Given the description of an element on the screen output the (x, y) to click on. 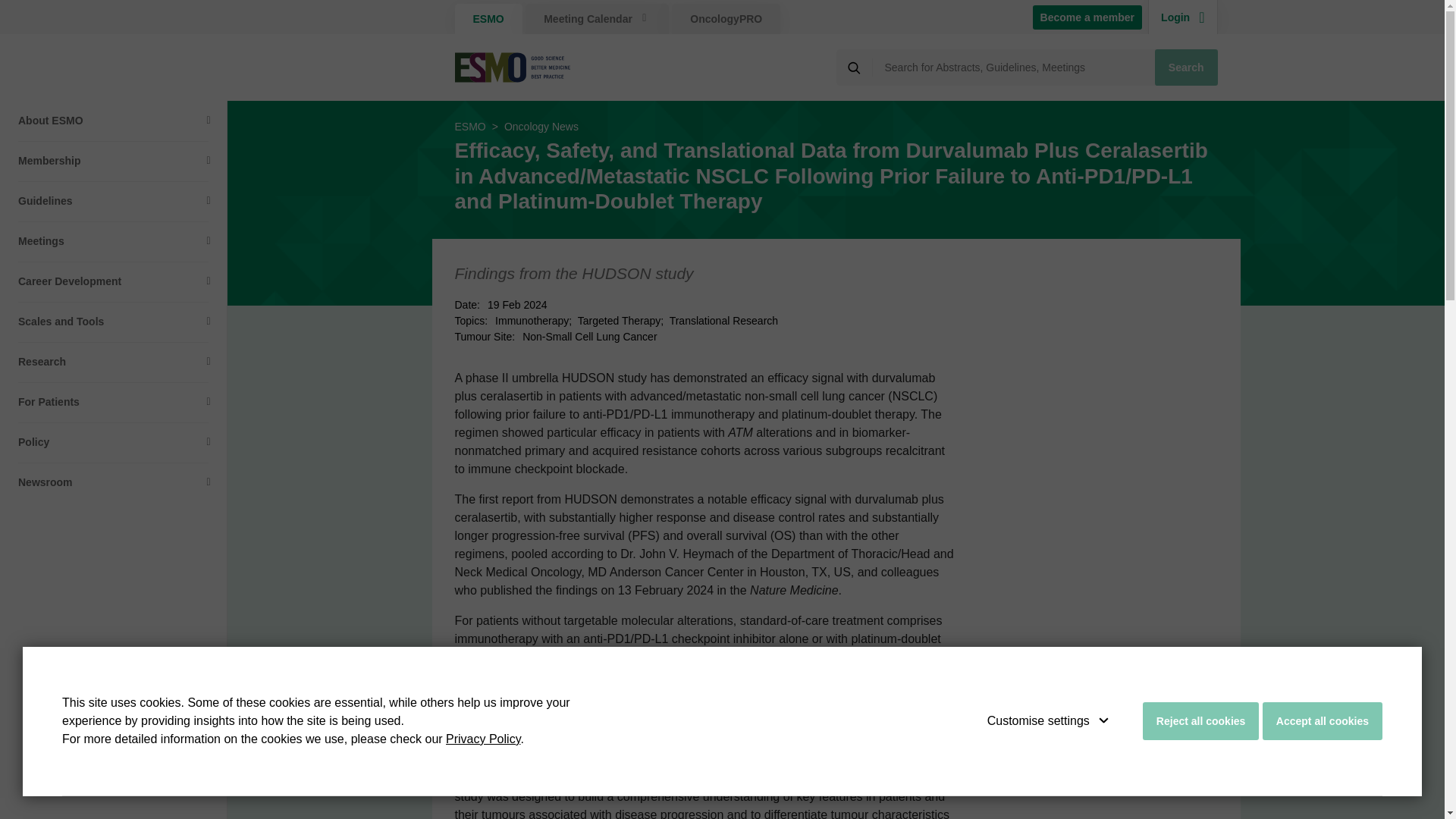
Meeting Calendar (596, 19)
ESMO (488, 19)
About ESMO (113, 120)
OncologyPRO (725, 19)
Newsroom (113, 482)
Career development (113, 281)
Research (113, 362)
Membership (113, 160)
Search (1185, 67)
Patients (113, 402)
Policy (113, 442)
About ESMO (113, 120)
Become a member (1087, 16)
Scales and Tools (113, 322)
ESMO (470, 126)
